Given the description of an element on the screen output the (x, y) to click on. 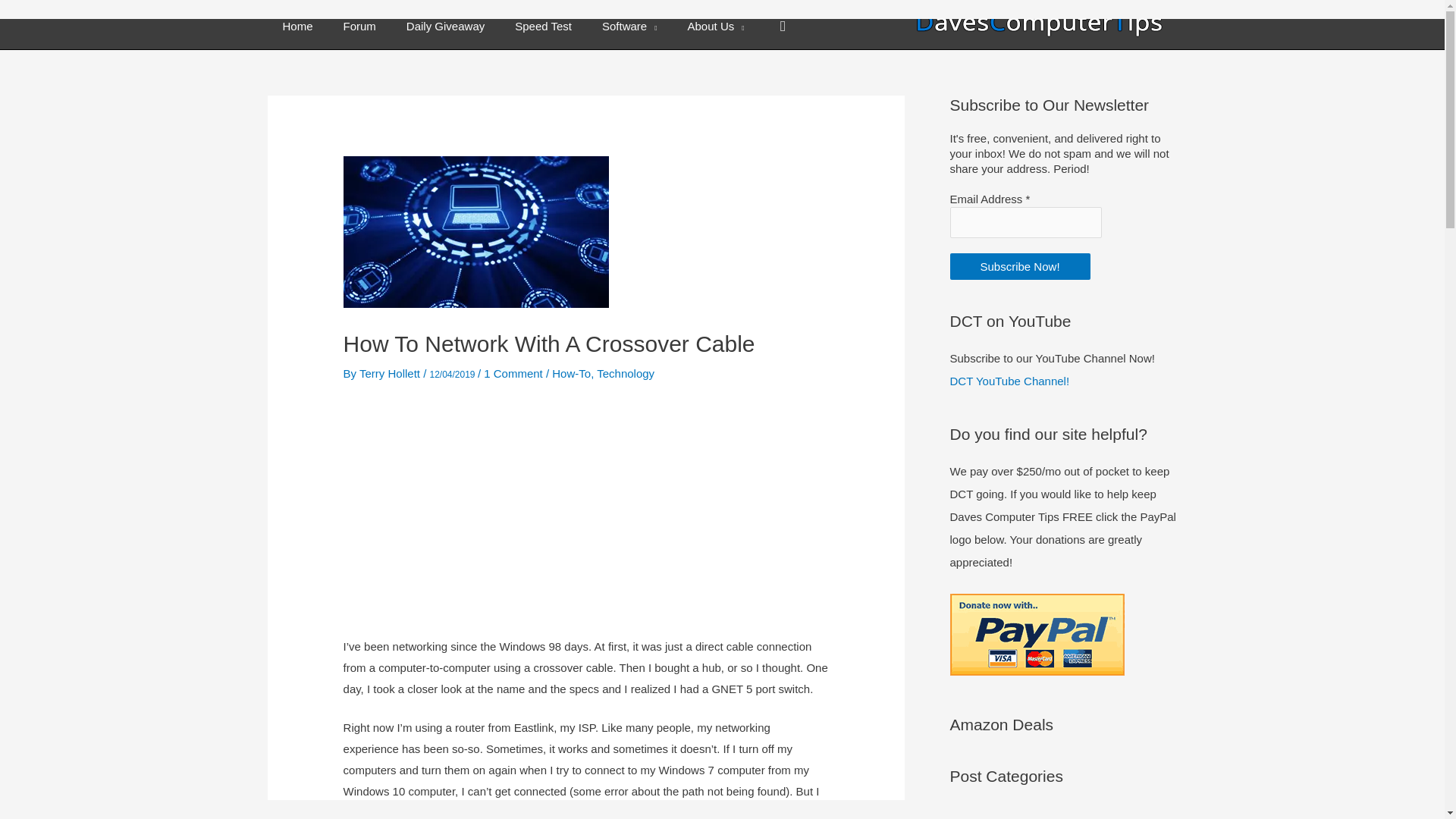
Home (296, 25)
Email Address (1024, 223)
Advertisement (585, 510)
About Us (716, 25)
View all posts by Terry Hollett (391, 373)
Speed Test (542, 25)
Software (629, 25)
Subscribe Now! (1019, 266)
Daily Giveaway (445, 25)
Forum (360, 25)
